Given the description of an element on the screen output the (x, y) to click on. 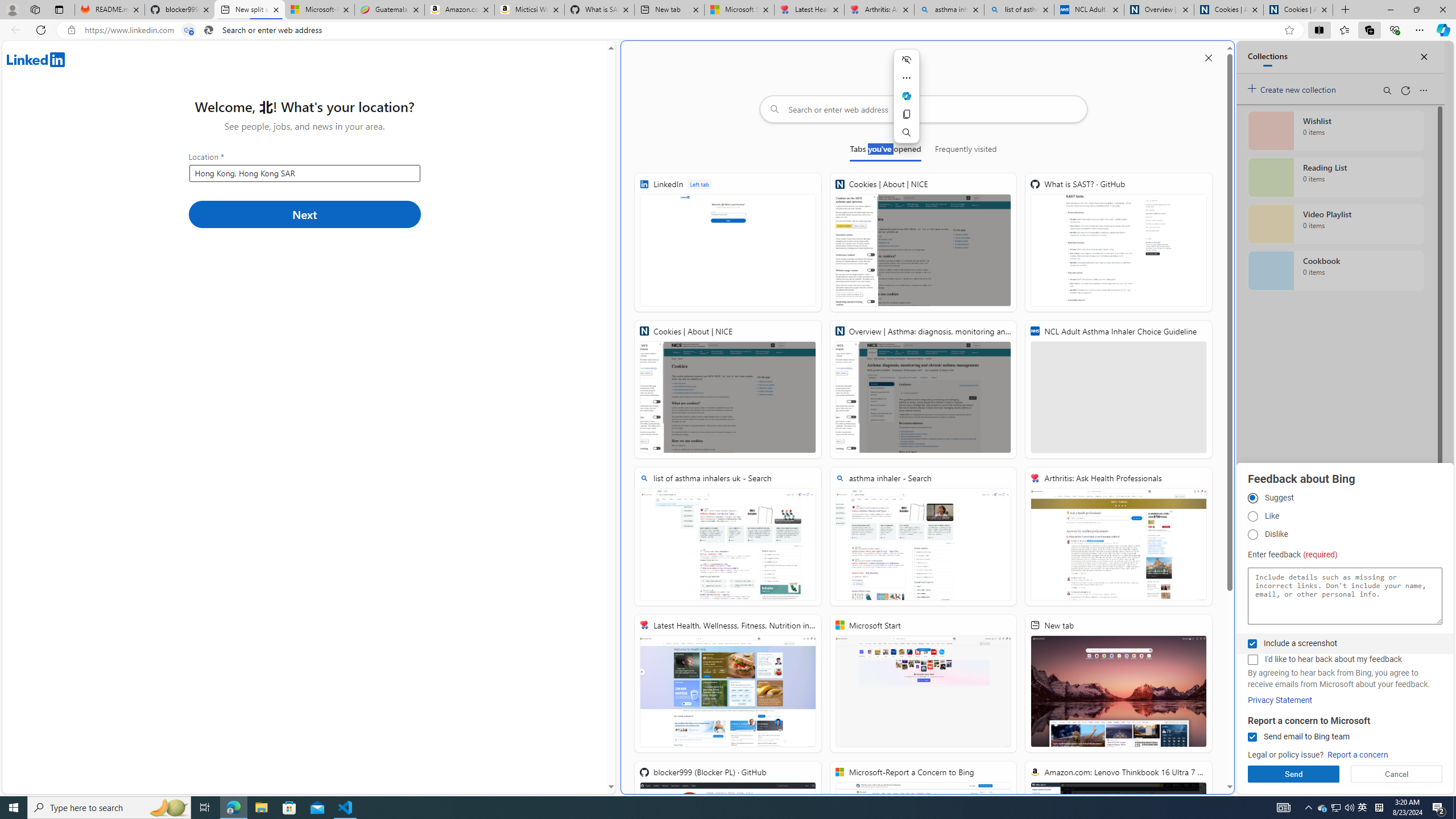
NCL Adult Asthma Inhaler Choice Guideline (1118, 389)
I'd like to hear back about my feedback (1252, 659)
New split screen (249, 9)
Privacy Statement (1280, 700)
Frequently visited (965, 151)
list of asthma inhalers uk - Search (1018, 9)
Tabs you've opened (885, 151)
Hide menu (905, 59)
